Given the description of an element on the screen output the (x, y) to click on. 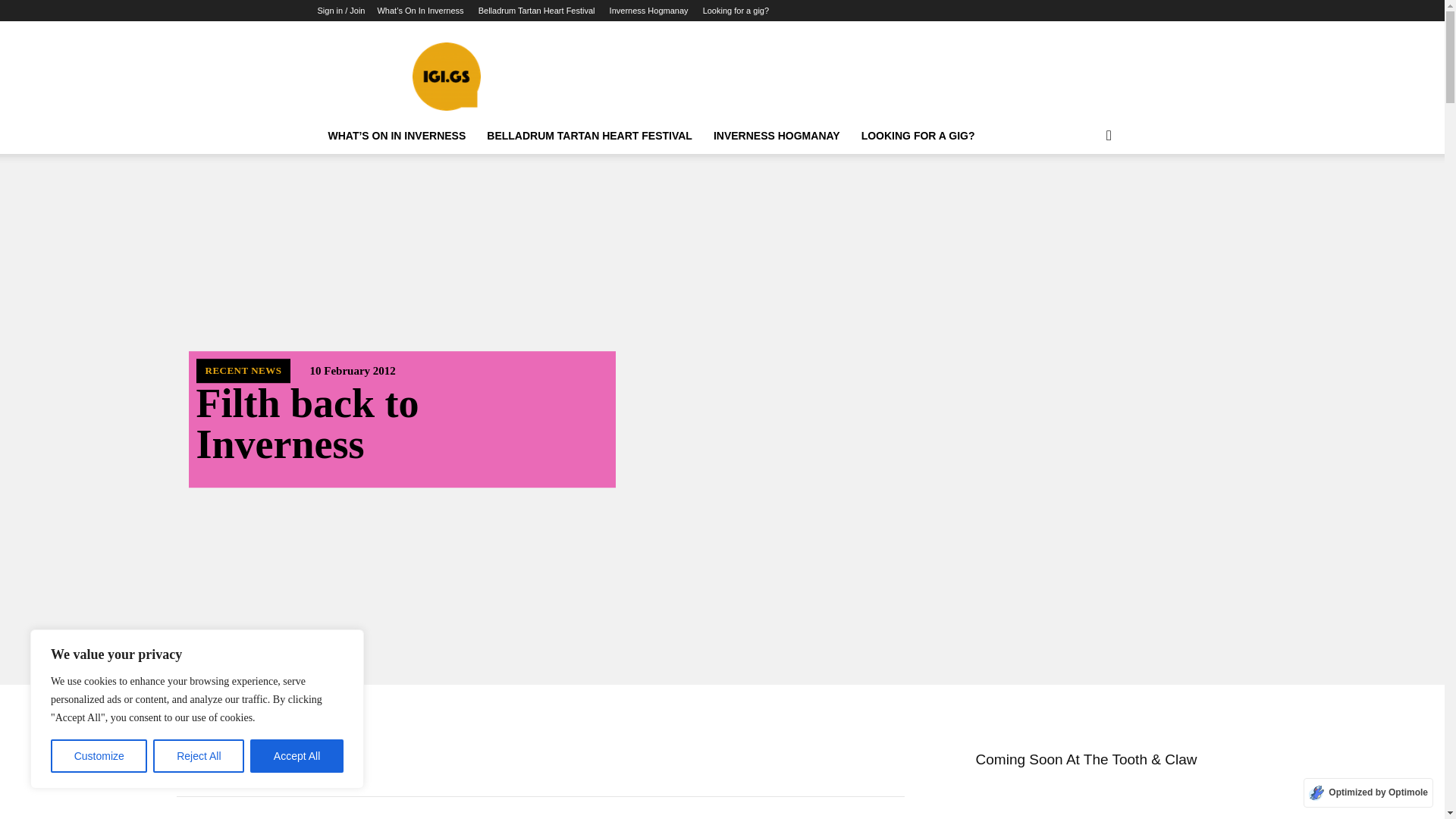
Looking for a gig? (735, 10)
Belladrum Tartan Heart Festival (537, 10)
INVERNESS HOGMANAY (776, 135)
BELLADRUM TARTAN HEART FESTIVAL (589, 135)
LOOKING FOR A GIG? (917, 135)
Inverness Hogmanay (649, 10)
Customize (98, 756)
Search (1085, 196)
RECENT NEWS (242, 370)
Reject All (198, 756)
